Given the description of an element on the screen output the (x, y) to click on. 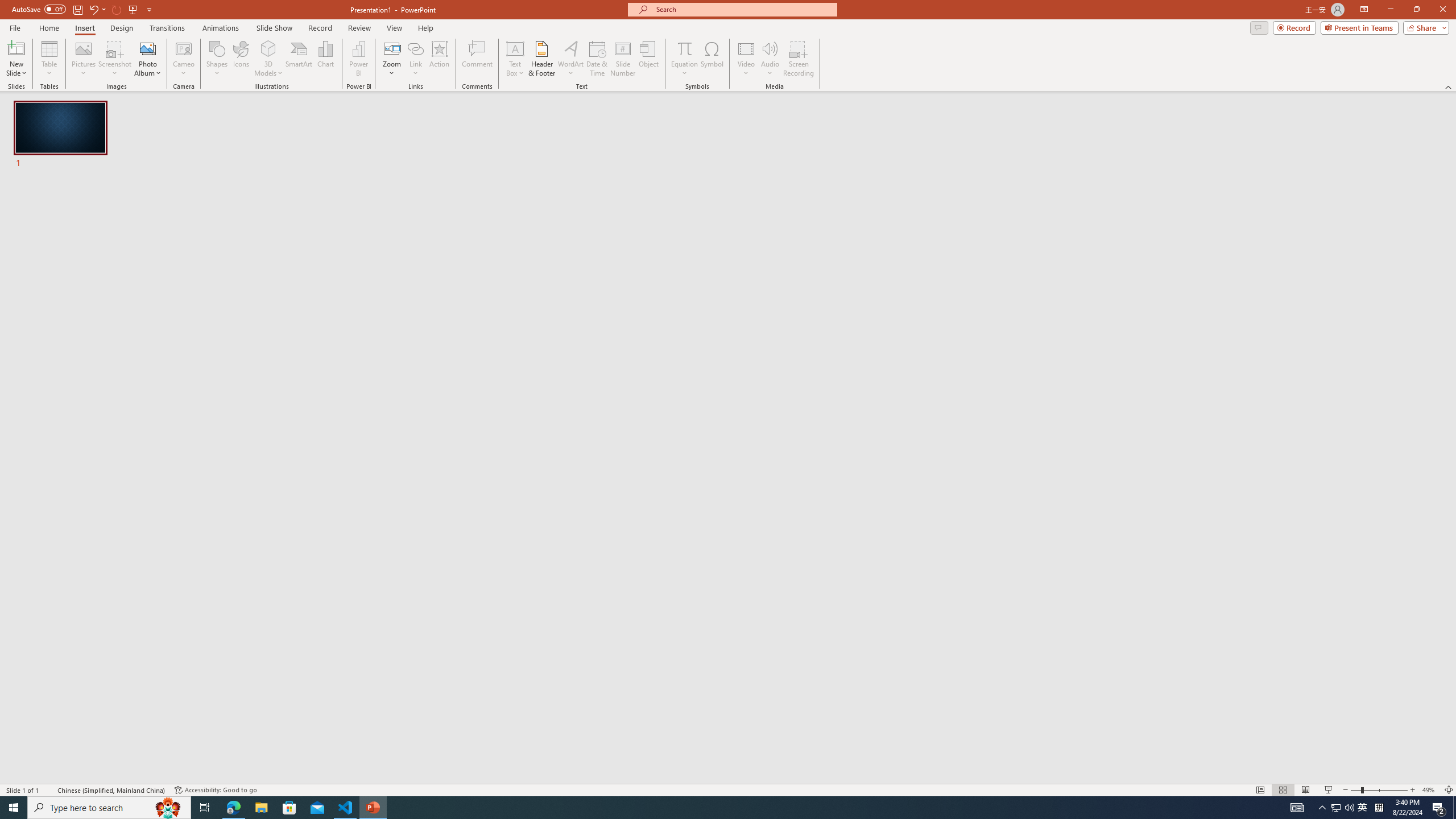
Link (415, 58)
Draw Horizontal Text Box (515, 48)
Cameo (183, 48)
Header & Footer... (541, 58)
Equation (683, 48)
Spell Check  (49, 790)
3D Models (268, 48)
Cameo (183, 58)
